Given the description of an element on the screen output the (x, y) to click on. 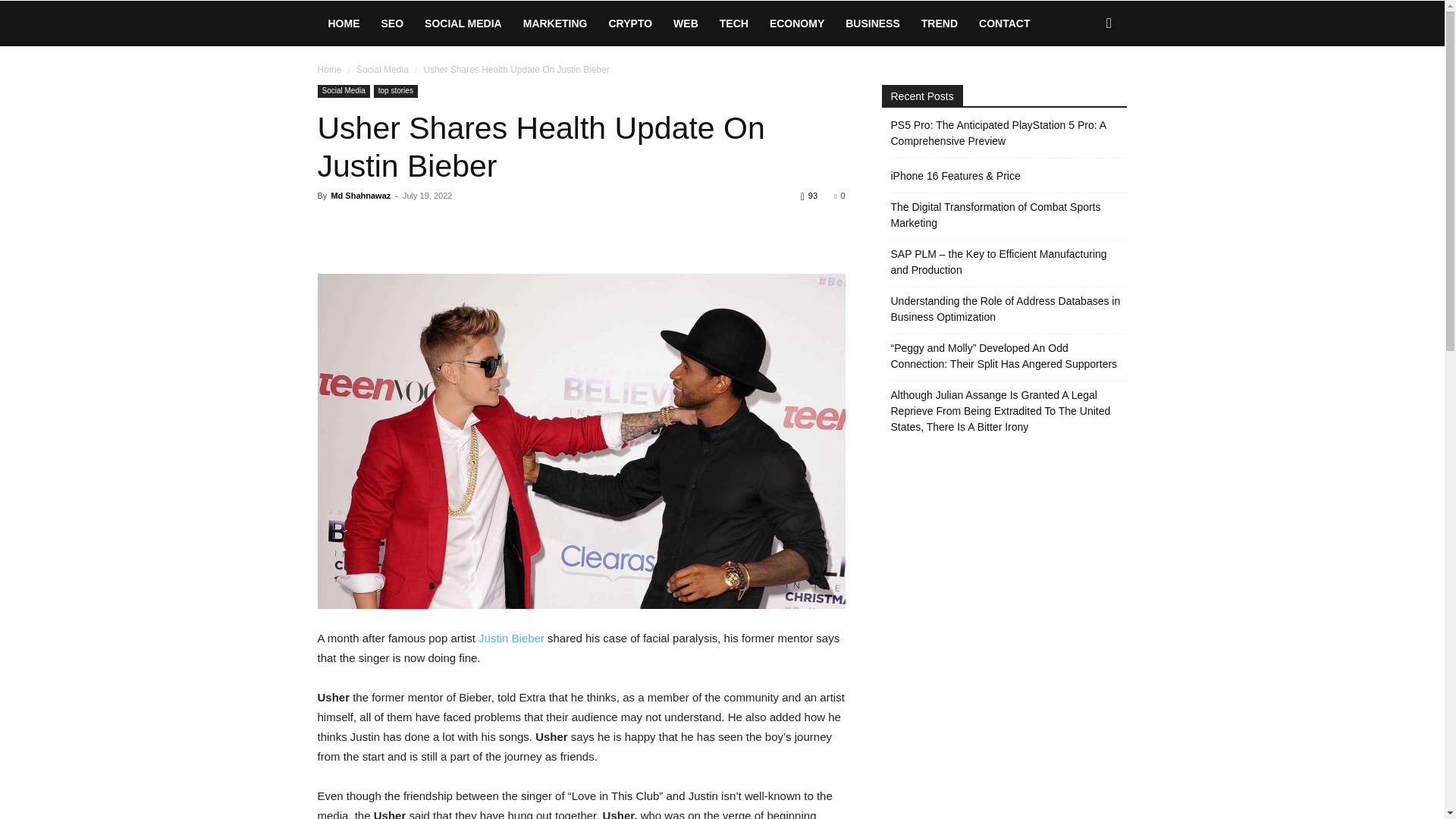
SEO (391, 22)
SOCIAL MEDIA (462, 22)
HOME (343, 22)
View all posts in Social Media (382, 69)
